Given the description of an element on the screen output the (x, y) to click on. 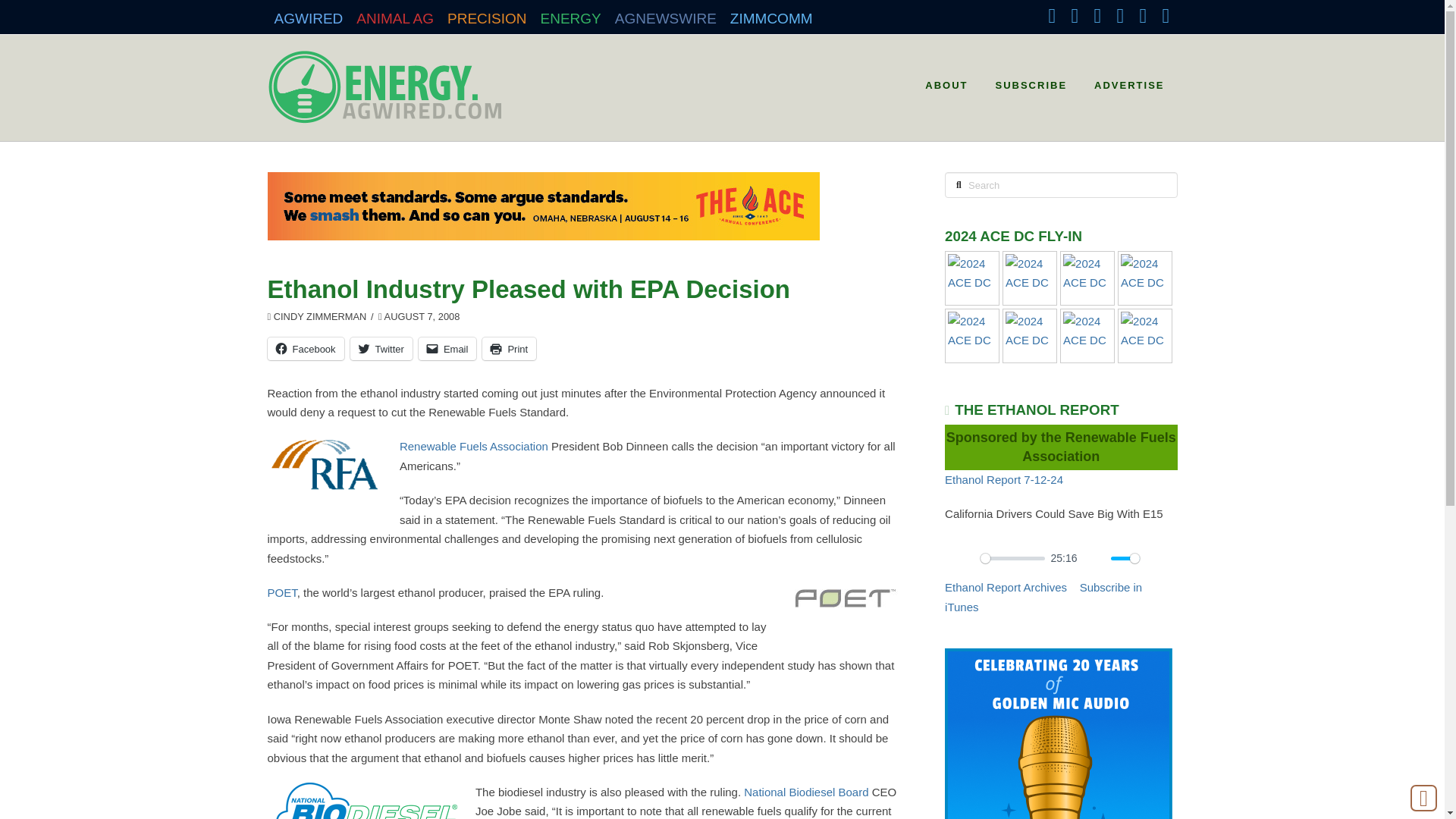
Facebook (304, 348)
POET (281, 592)
Click to share on Twitter (381, 348)
Print (508, 348)
AGWIRED (307, 13)
1 (1125, 558)
Instagram (1119, 15)
ABOUT (945, 80)
SUBSCRIBE (1029, 80)
0 (1012, 558)
ENERGY (571, 13)
Twitter (381, 348)
National Biodiesel Board (805, 791)
ZIMMCOMM (771, 13)
Renewable Fuels Association (473, 445)
